Given the description of an element on the screen output the (x, y) to click on. 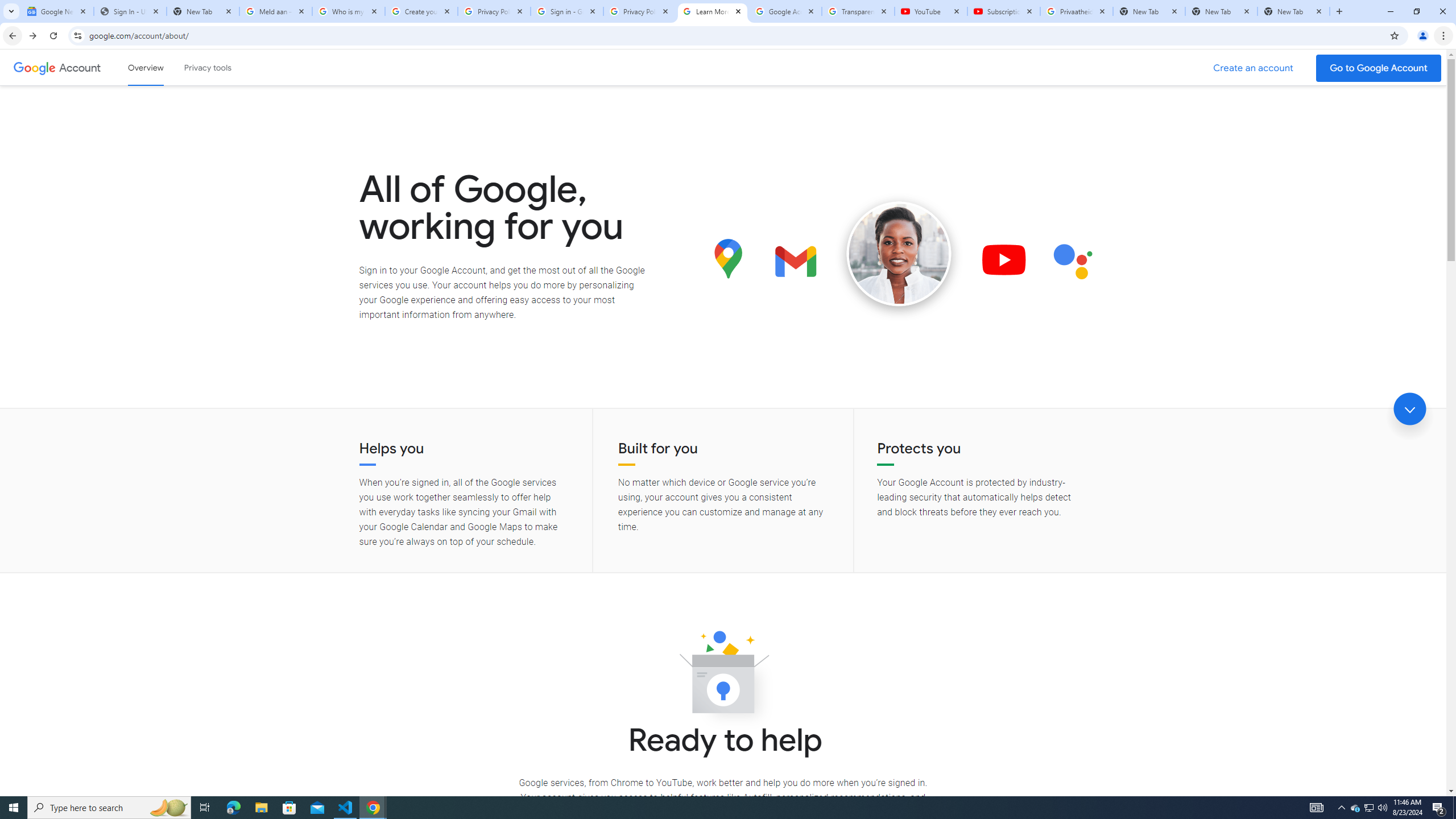
Subscriptions - YouTube (1003, 11)
Ready to help (722, 675)
Google Account overview (145, 67)
Google Account (785, 11)
Create your Google Account (421, 11)
YouTube (930, 11)
